Given the description of an element on the screen output the (x, y) to click on. 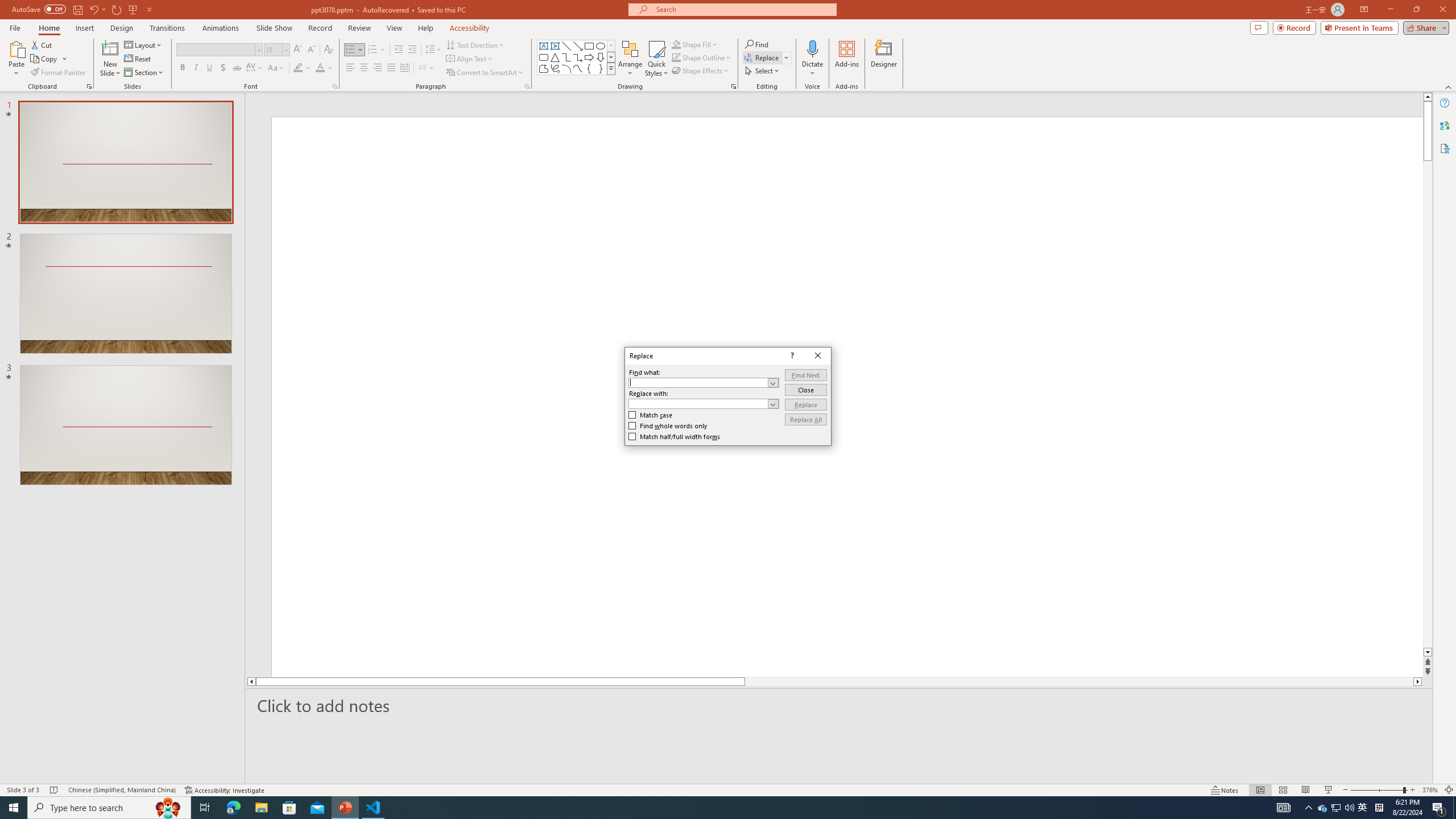
Replace All (805, 418)
Replace with (697, 403)
Find whole words only (667, 425)
